Given the description of an element on the screen output the (x, y) to click on. 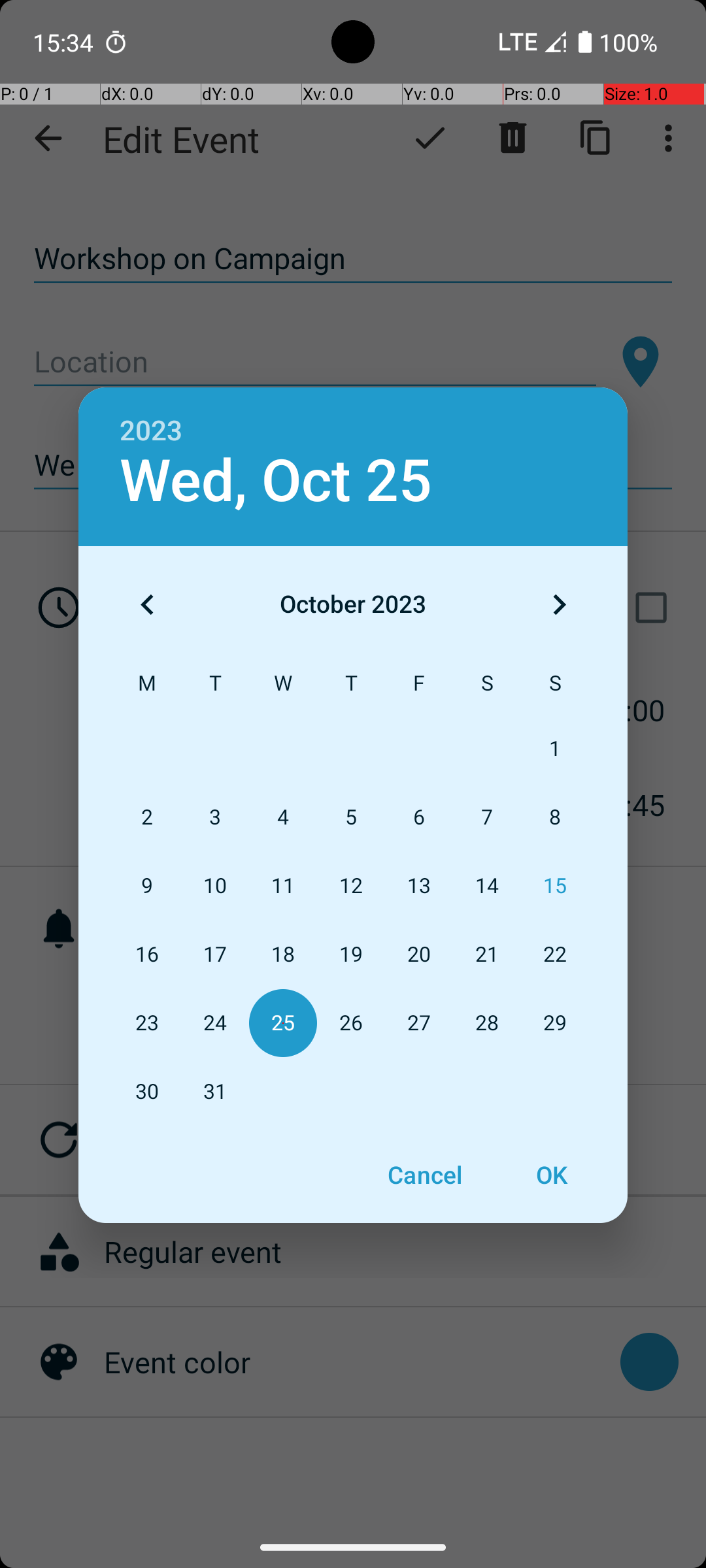
Wed, Oct 25 Element type: android.widget.TextView (275, 480)
